Given the description of an element on the screen output the (x, y) to click on. 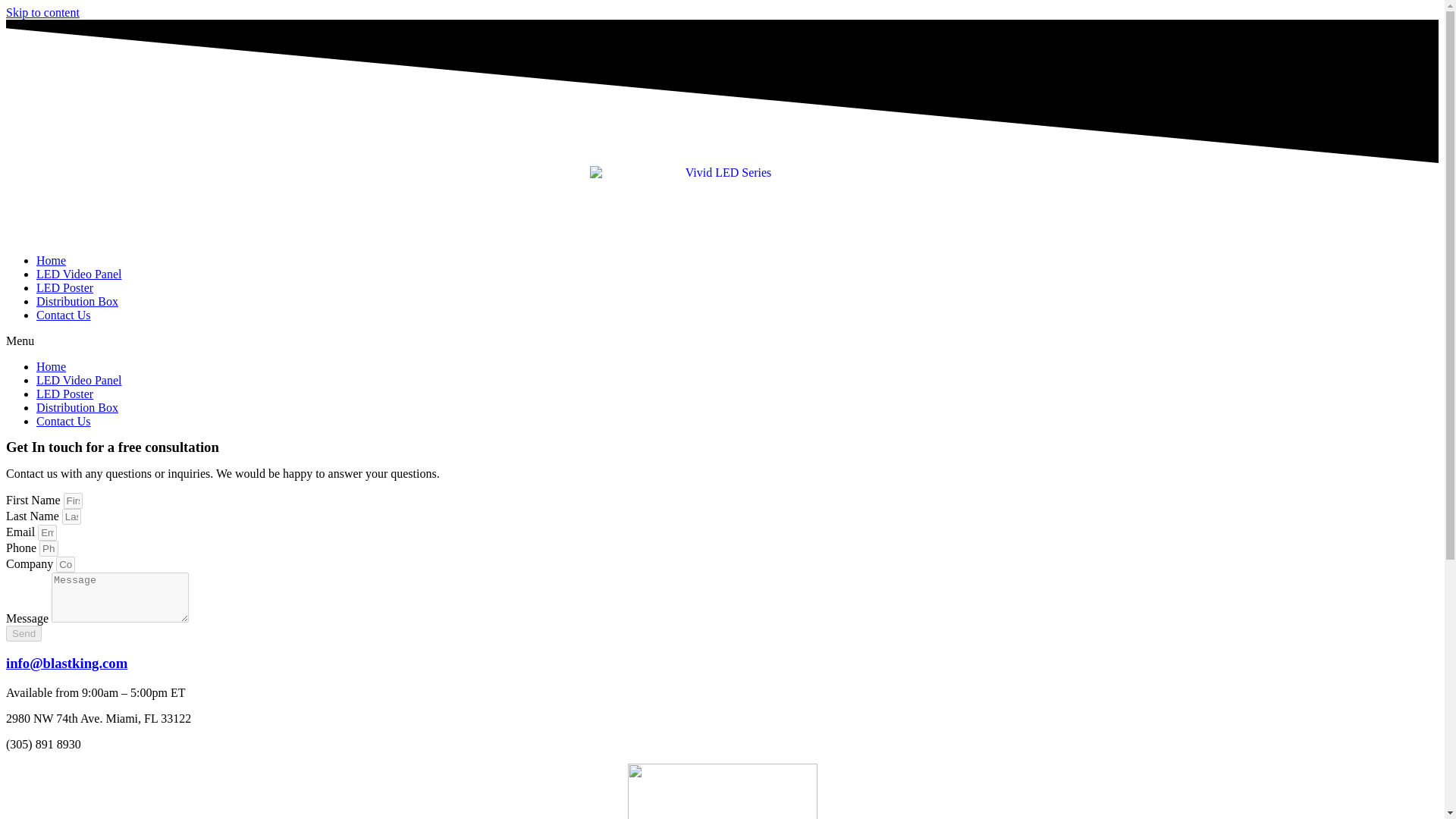
Home (50, 366)
Distribution Box (76, 300)
LED Video Panel (79, 273)
Home (50, 259)
Contact Us (63, 314)
LED Poster (64, 393)
Send (23, 633)
LED Video Panel (79, 379)
Contact Us (63, 420)
Distribution Box (76, 407)
